Given the description of an element on the screen output the (x, y) to click on. 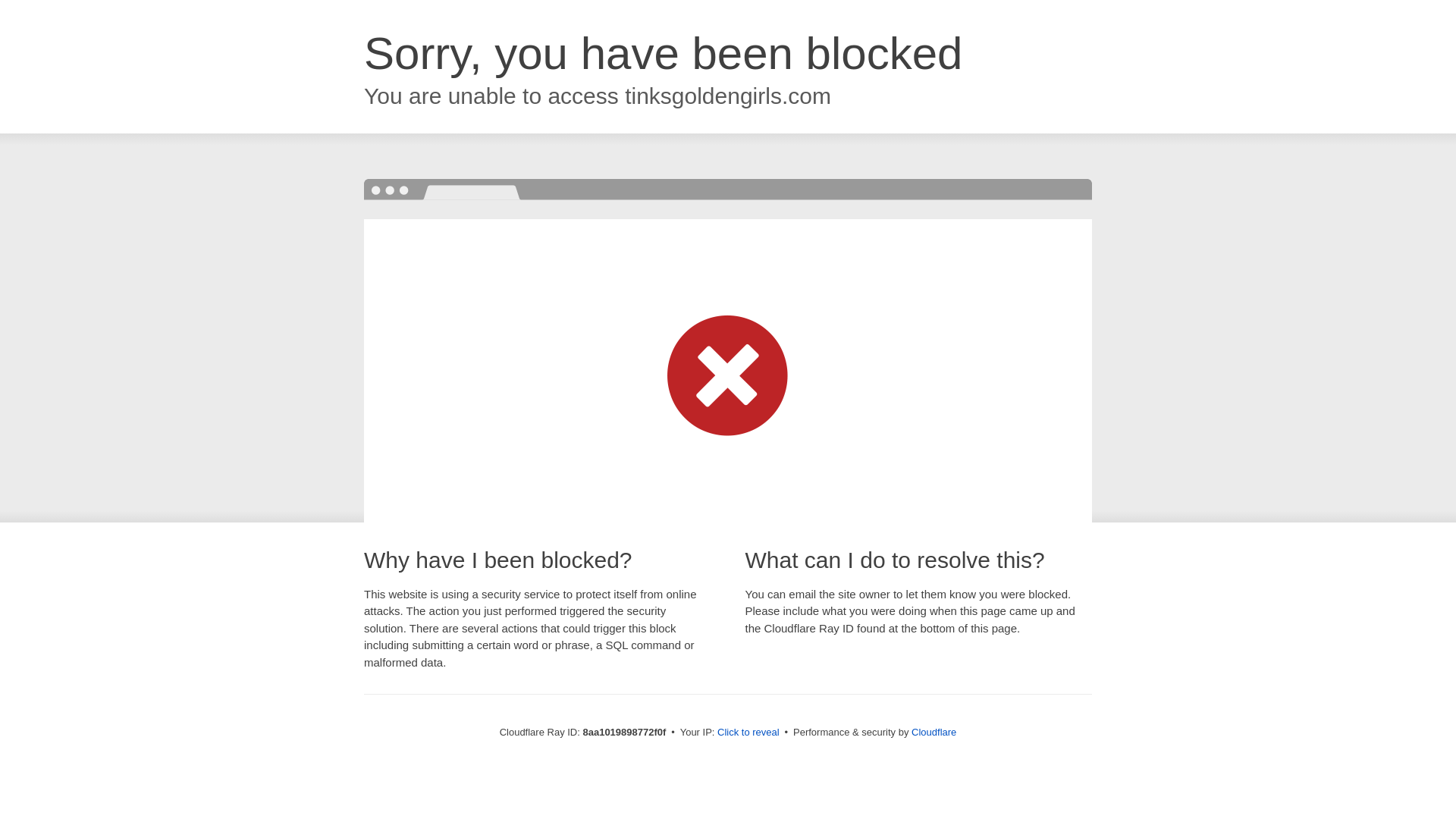
Cloudflare (933, 731)
Click to reveal (747, 732)
